Given the description of an element on the screen output the (x, y) to click on. 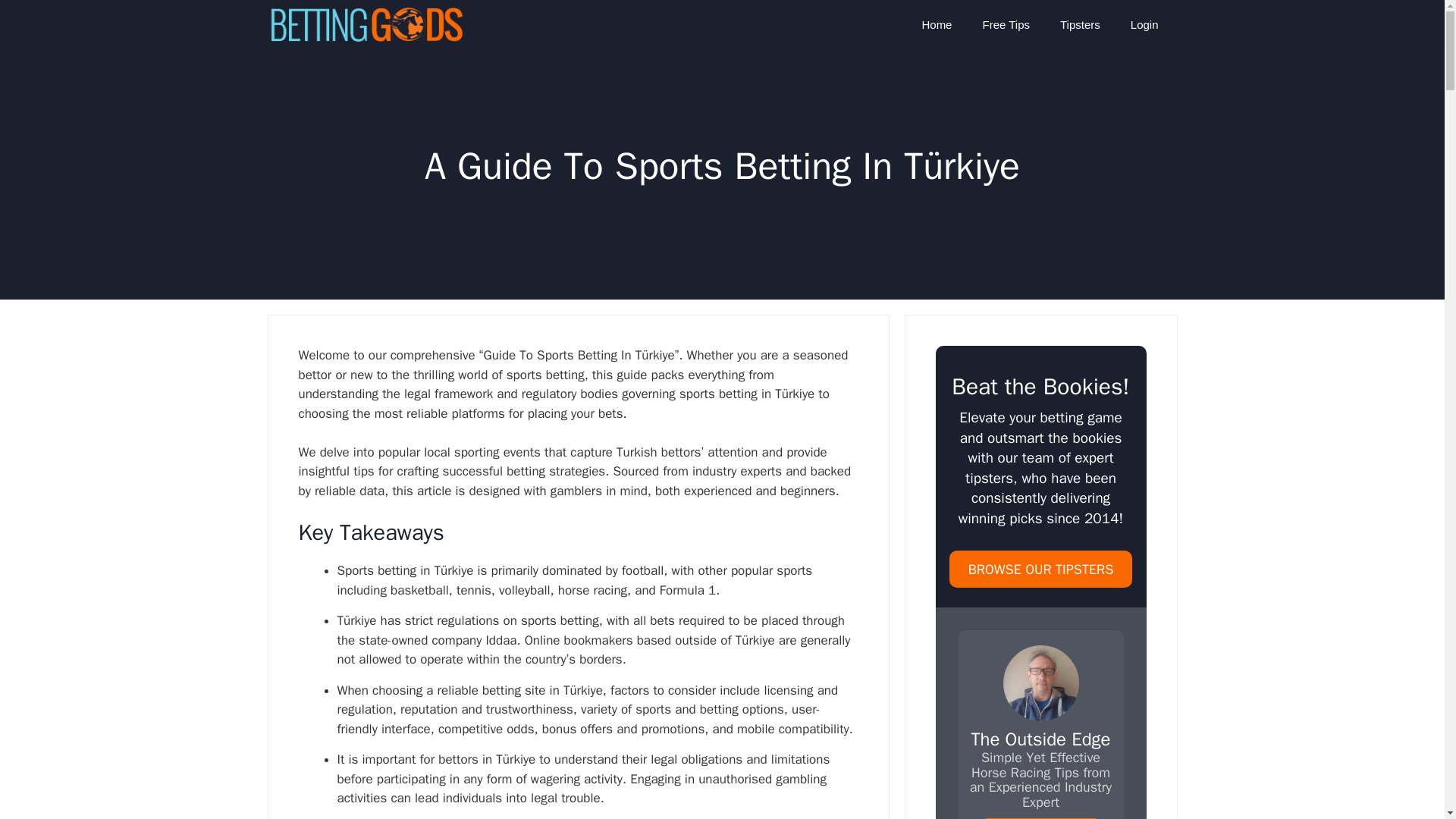
Home (935, 23)
Free Tips (1005, 23)
BROWSE OUR TIPSTERS (1040, 569)
Tipsters (1080, 23)
Login (1144, 23)
BettingGods.com (366, 24)
